Given the description of an element on the screen output the (x, y) to click on. 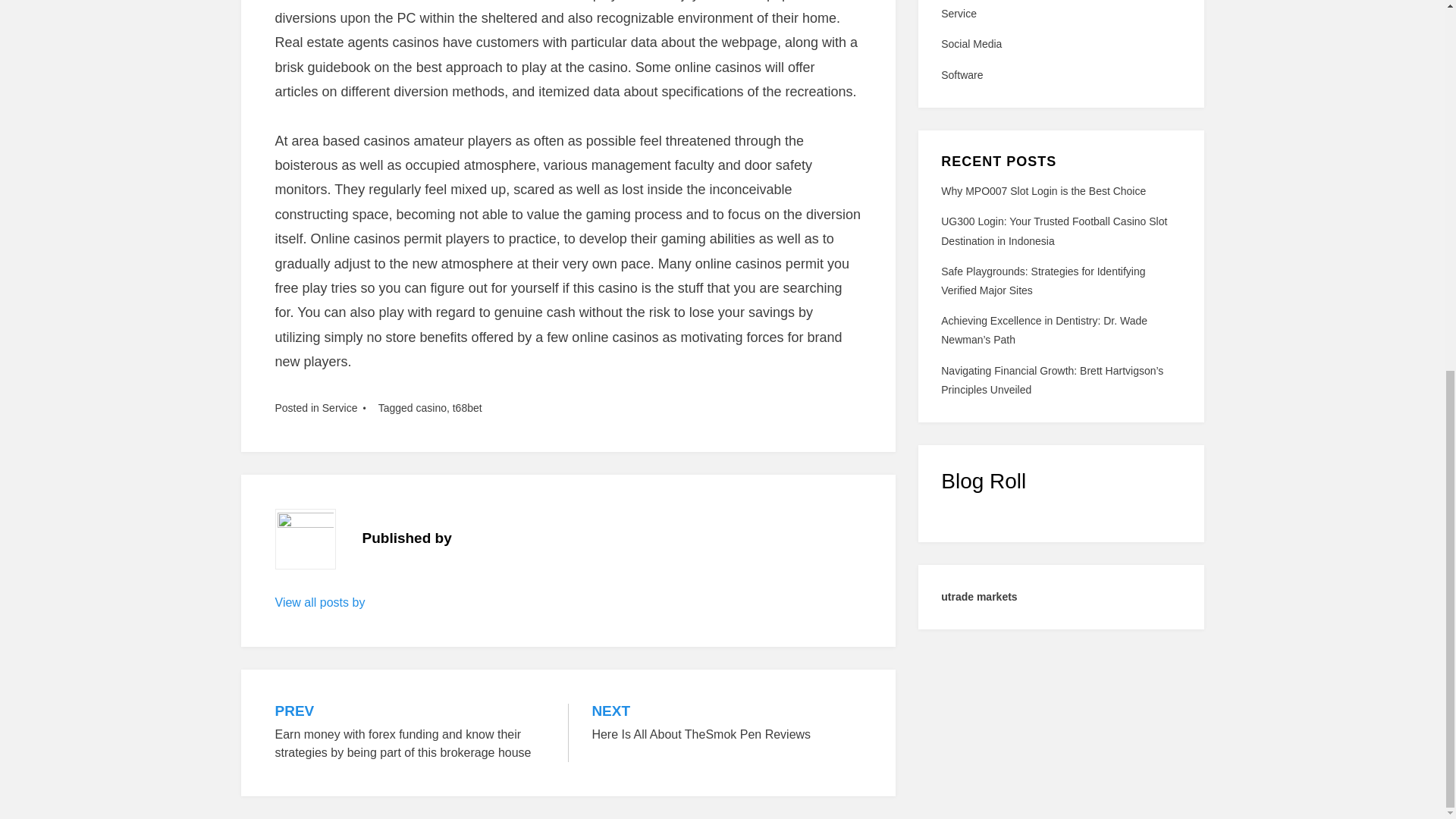
Social Media (1060, 44)
Software (1060, 75)
casino (429, 407)
View all posts by (320, 602)
utrade markets (978, 596)
Service (726, 723)
t68bet (1060, 13)
Why MPO007 Slot Login is the Best Choice (466, 407)
Service (1042, 191)
